Given the description of an element on the screen output the (x, y) to click on. 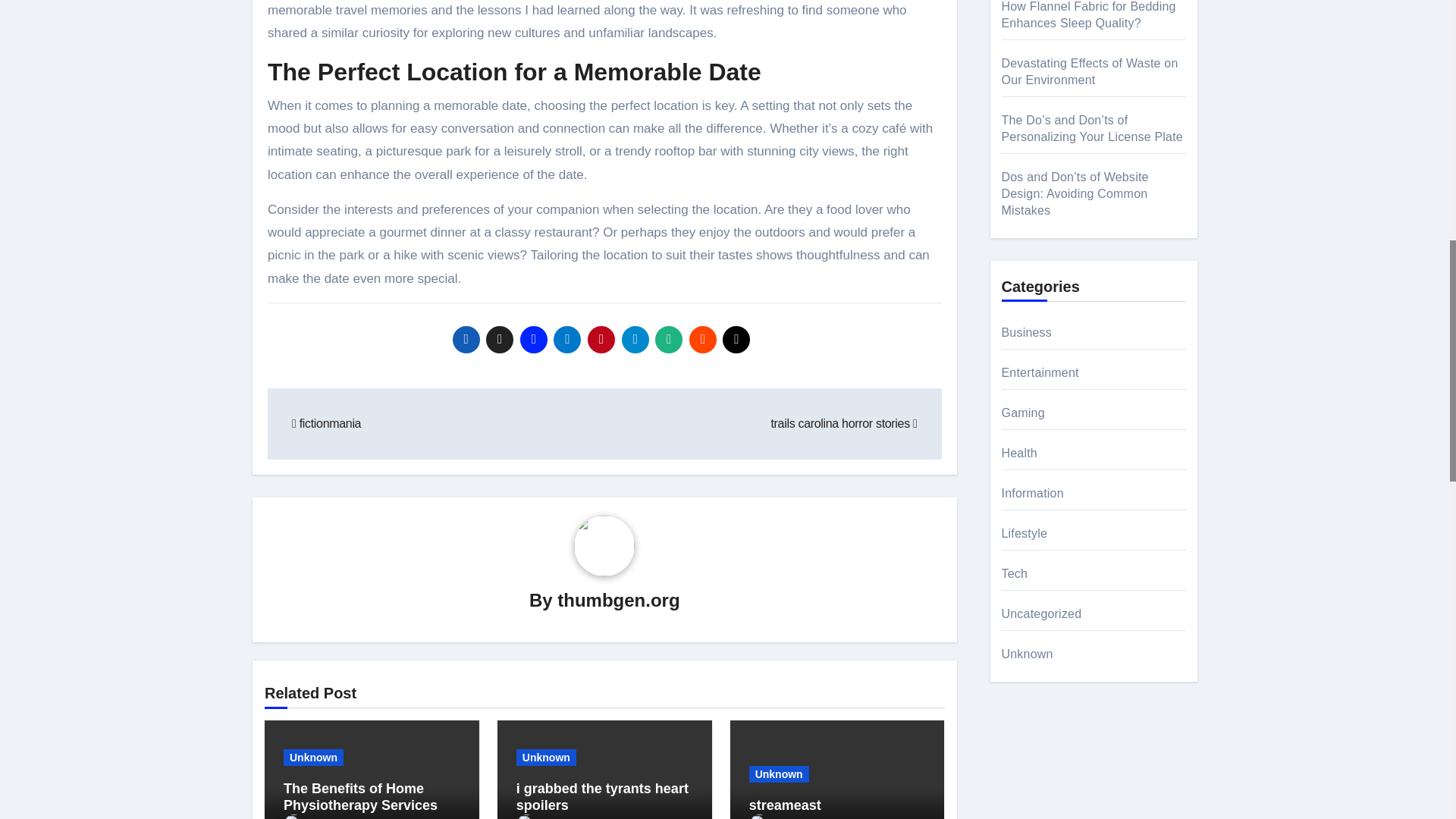
Permalink to: The Benefits of Home Physiotherapy Services (360, 797)
Permalink to: streameast (785, 805)
fictionmania (326, 422)
Permalink to: i grabbed the tyrants heart spoilers (602, 797)
